Given the description of an element on the screen output the (x, y) to click on. 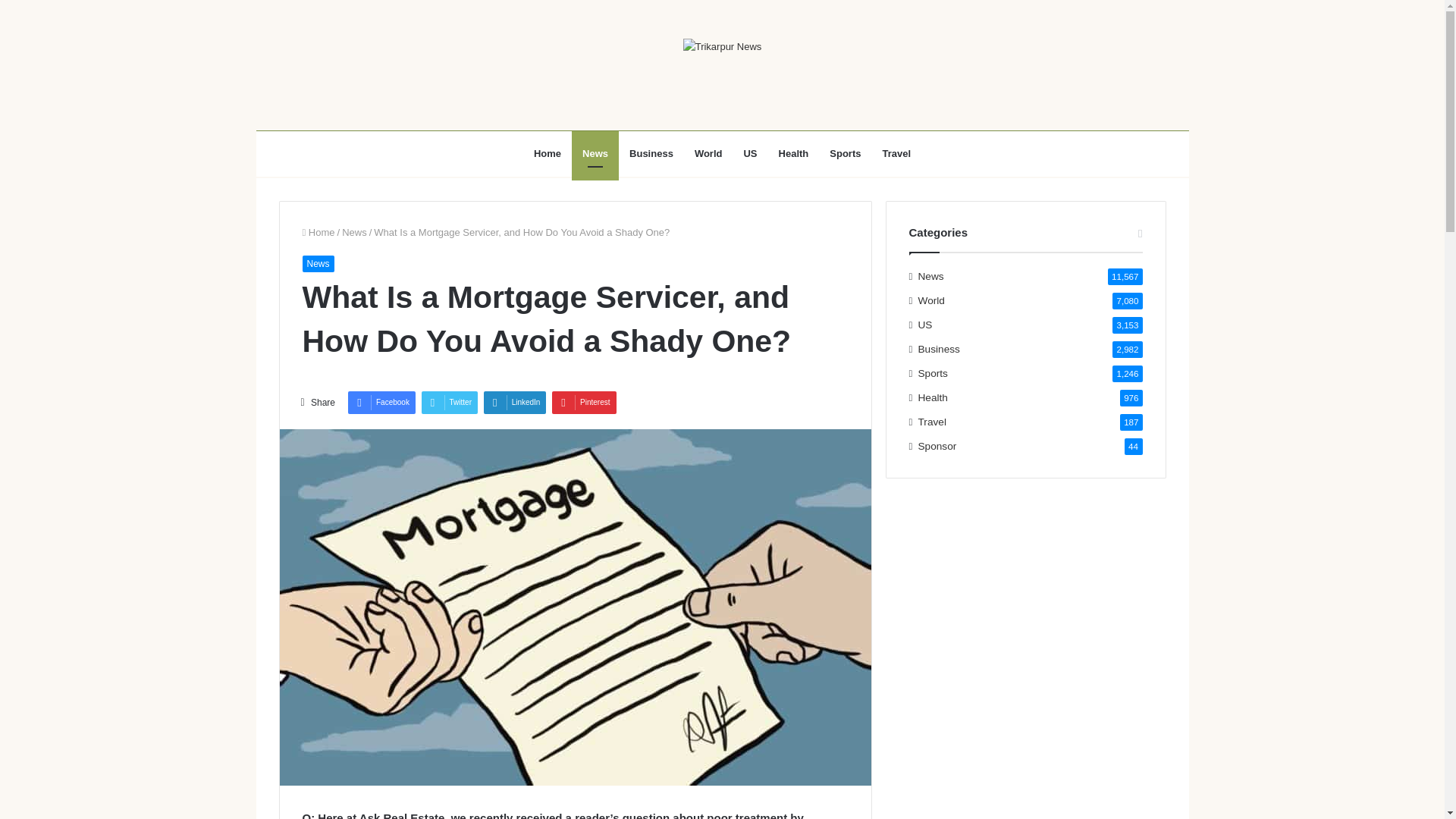
News (595, 153)
Sports (932, 373)
Home (317, 232)
Pinterest (583, 402)
Twitter (449, 402)
News (317, 263)
Health (793, 153)
Trikarpur News (721, 45)
LinkedIn (515, 402)
News (354, 232)
Sports (844, 153)
Facebook (380, 402)
Facebook (380, 402)
Home (547, 153)
Pinterest (583, 402)
